Given the description of an element on the screen output the (x, y) to click on. 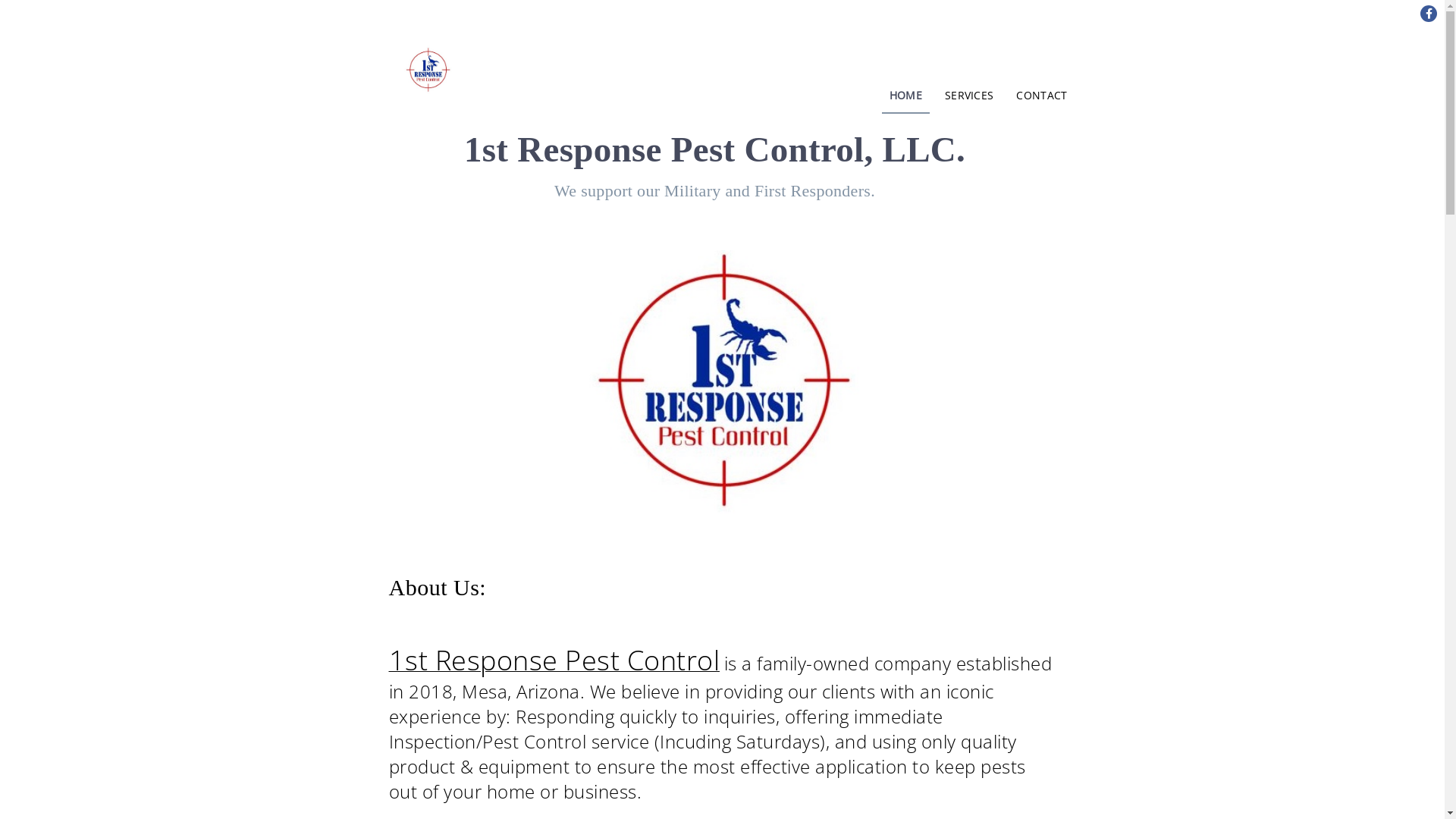
HOME Element type: text (905, 94)
CONTACT Element type: text (1041, 94)
SERVICES Element type: text (968, 94)
1st Response Pest Control Element type: text (553, 664)
